Given the description of an element on the screen output the (x, y) to click on. 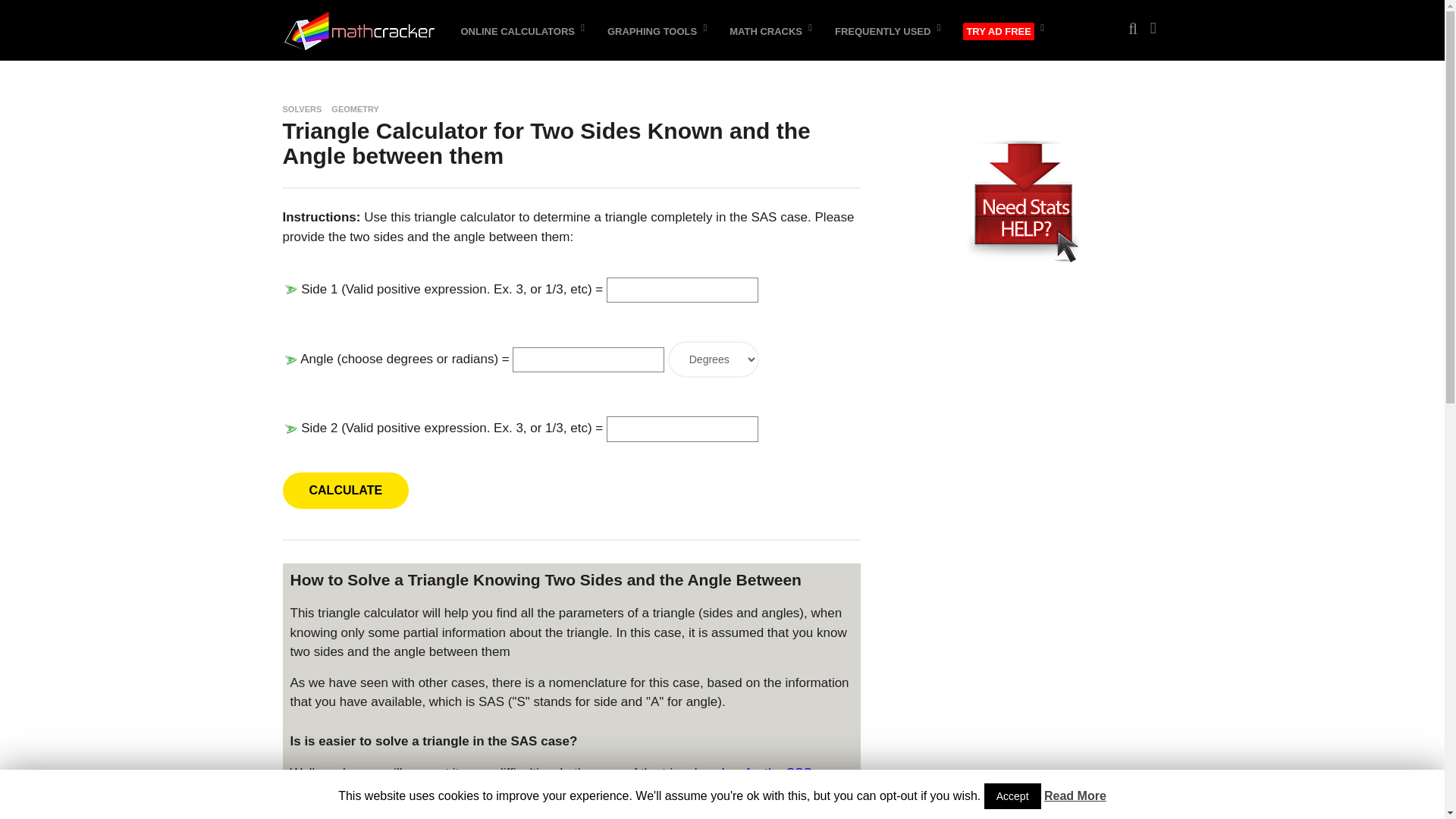
Calculate (345, 490)
